Given the description of an element on the screen output the (x, y) to click on. 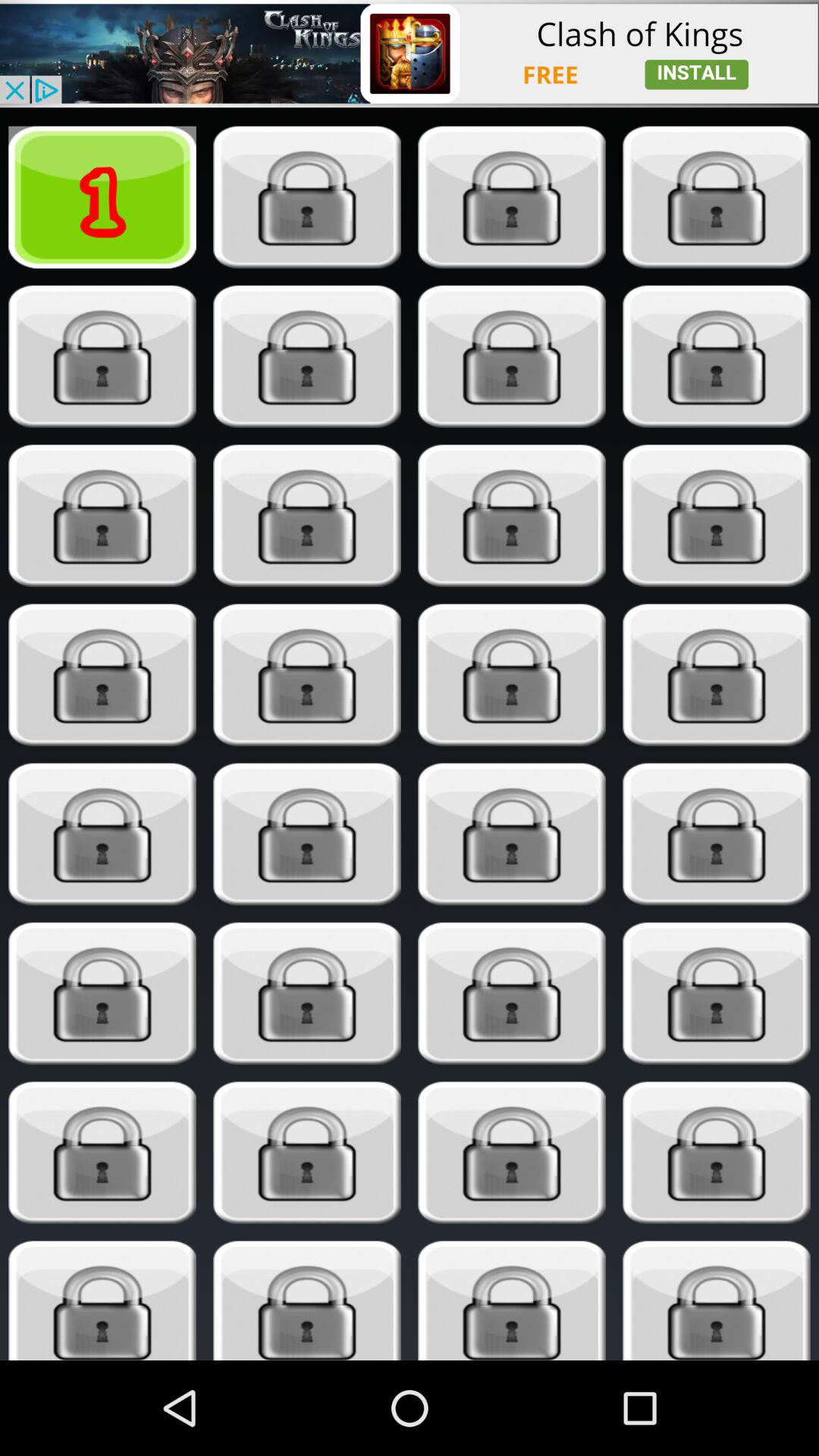
click to select (306, 993)
